Given the description of an element on the screen output the (x, y) to click on. 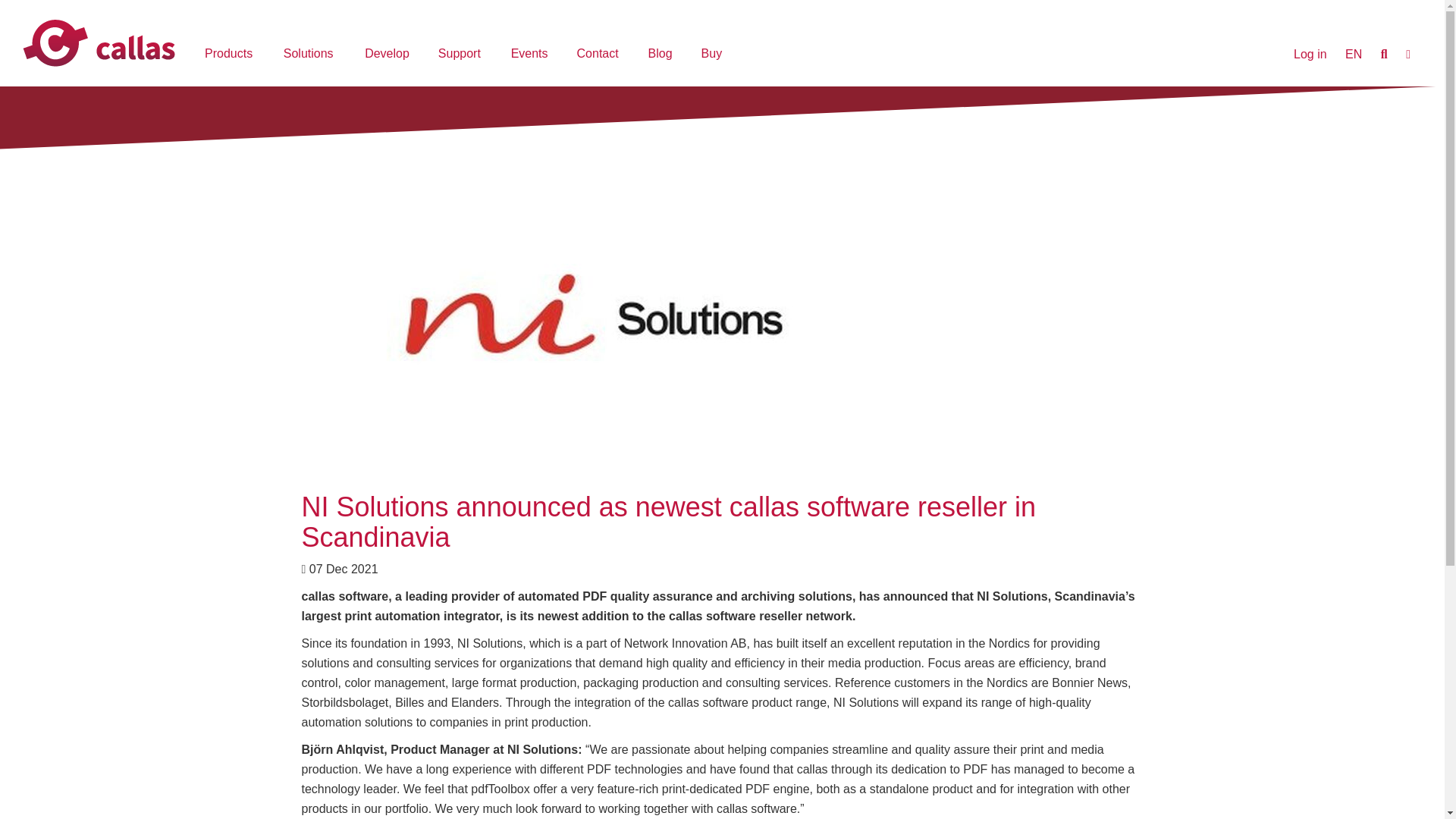
Products (231, 54)
Products (231, 54)
Solutions (311, 54)
Log in (1310, 54)
EN (1353, 54)
Solutions (311, 54)
